Given the description of an element on the screen output the (x, y) to click on. 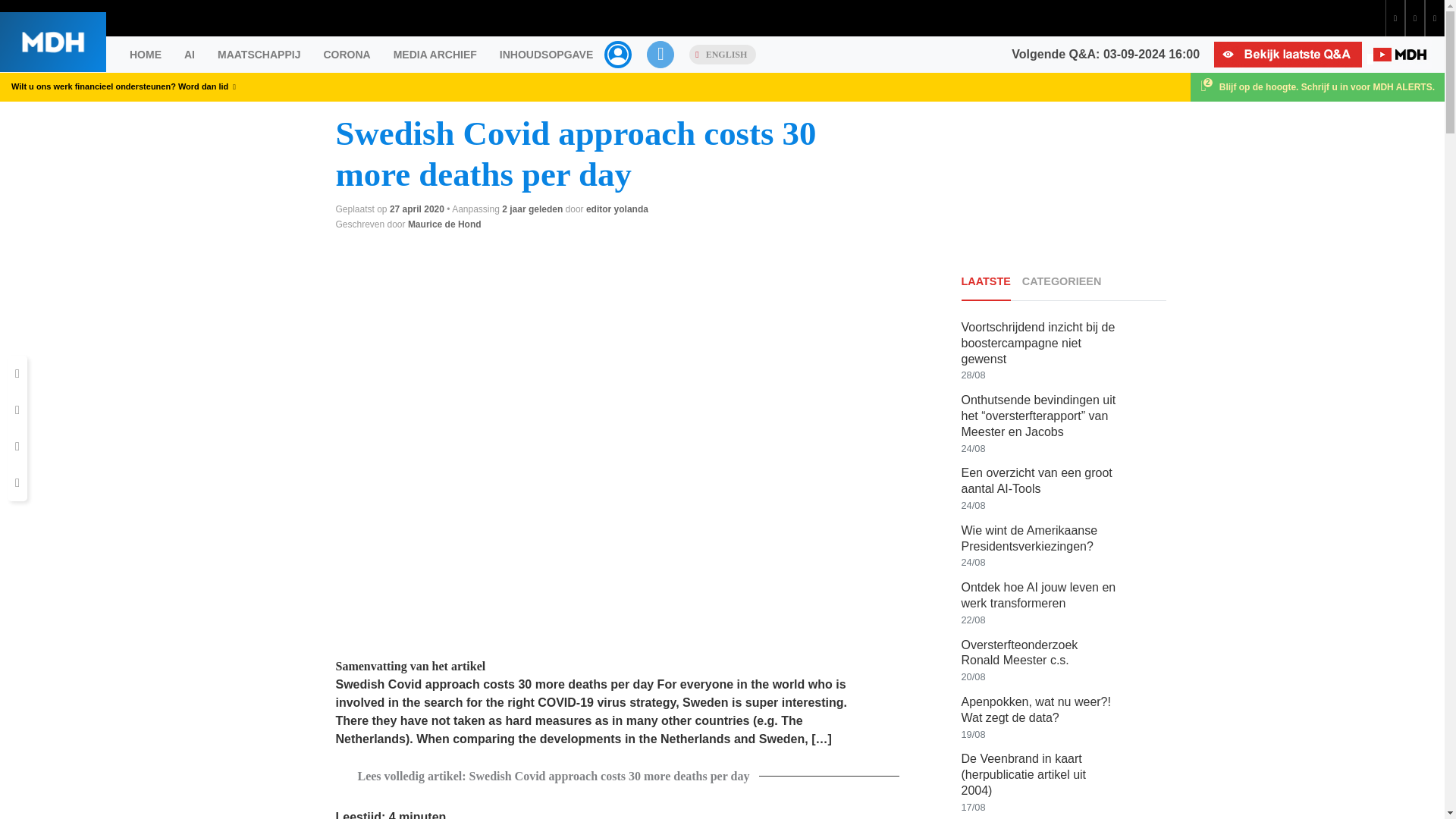
MAATSCHAPPIJ (258, 54)
AI (189, 54)
MEDIA ARCHIEF (434, 54)
CORONA (346, 54)
Maurice de Hond (444, 224)
INHOUDSOPGAVE (545, 54)
Word dan lid (206, 85)
ENGLISH (721, 54)
HOME (145, 54)
